Given the description of an element on the screen output the (x, y) to click on. 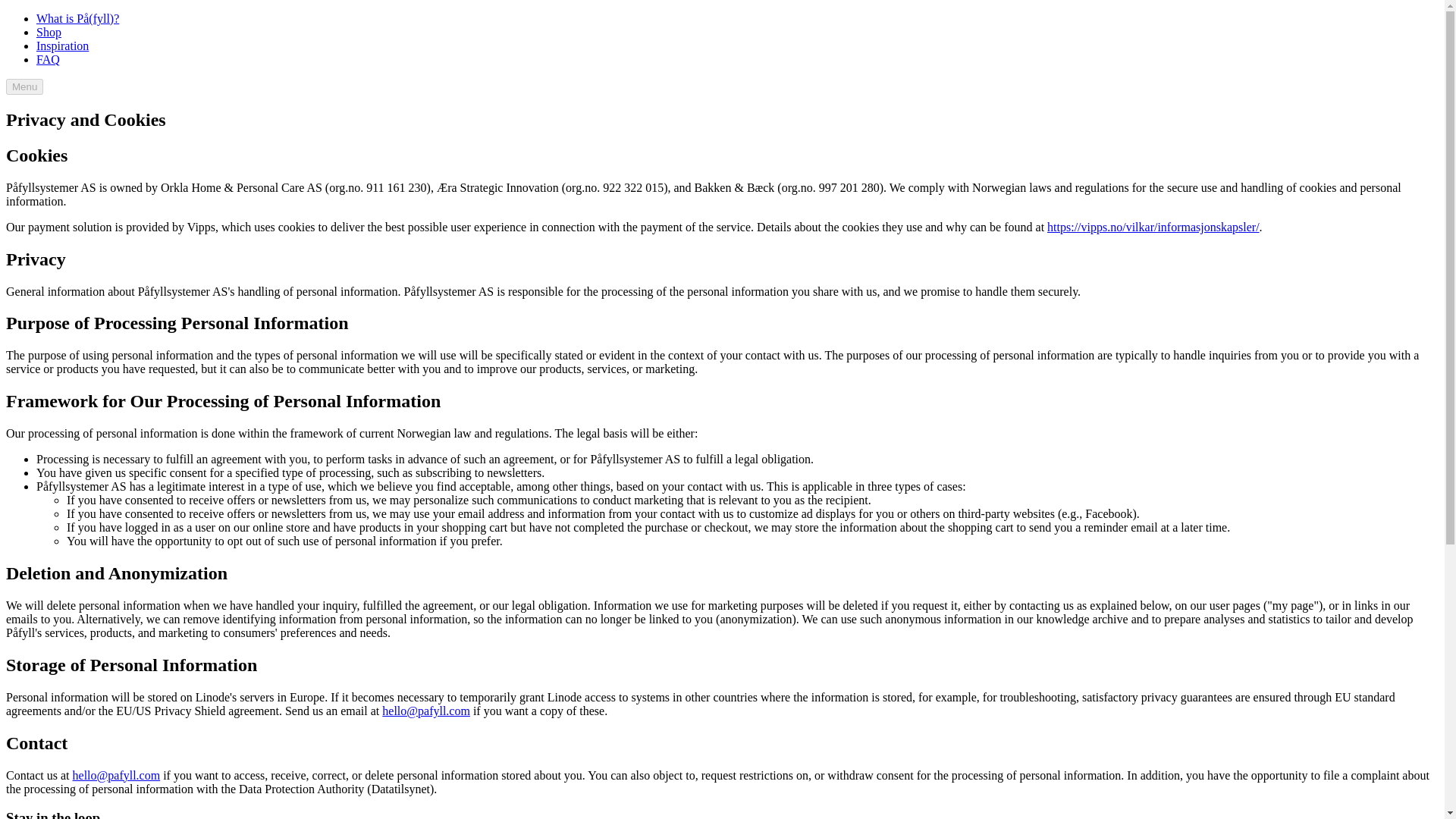
FAQ (47, 59)
Shop (48, 31)
Inspiration (62, 45)
Menu (24, 86)
